Given the description of an element on the screen output the (x, y) to click on. 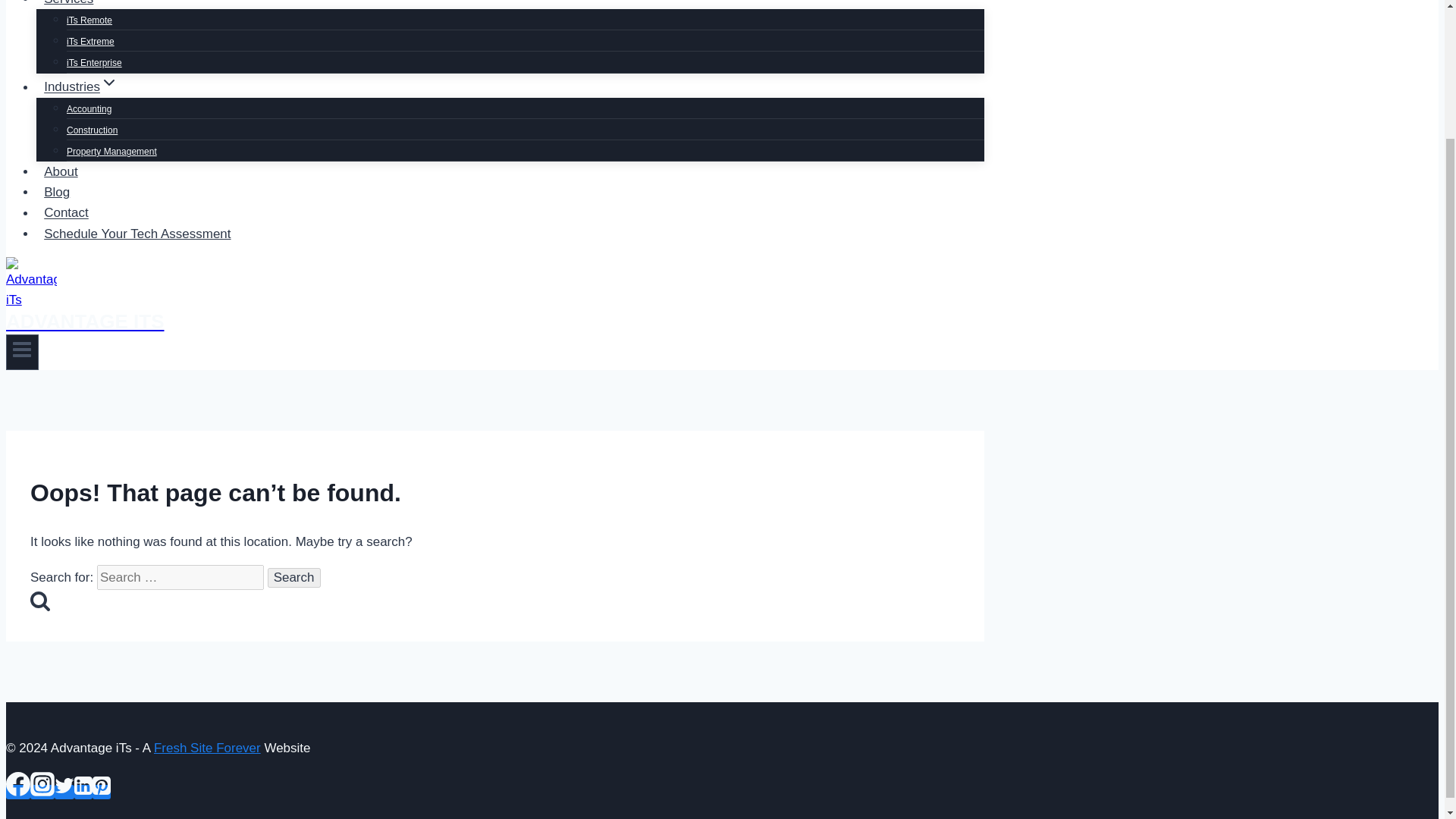
iTs Extreme (90, 41)
Search (293, 578)
Facebook (17, 784)
Property Management (111, 151)
Search (293, 578)
iTs Remote (89, 20)
Construction (91, 130)
IndustriesExpand (80, 86)
Linkedin (83, 791)
Fresh Site Forever (207, 748)
